Given the description of an element on the screen output the (x, y) to click on. 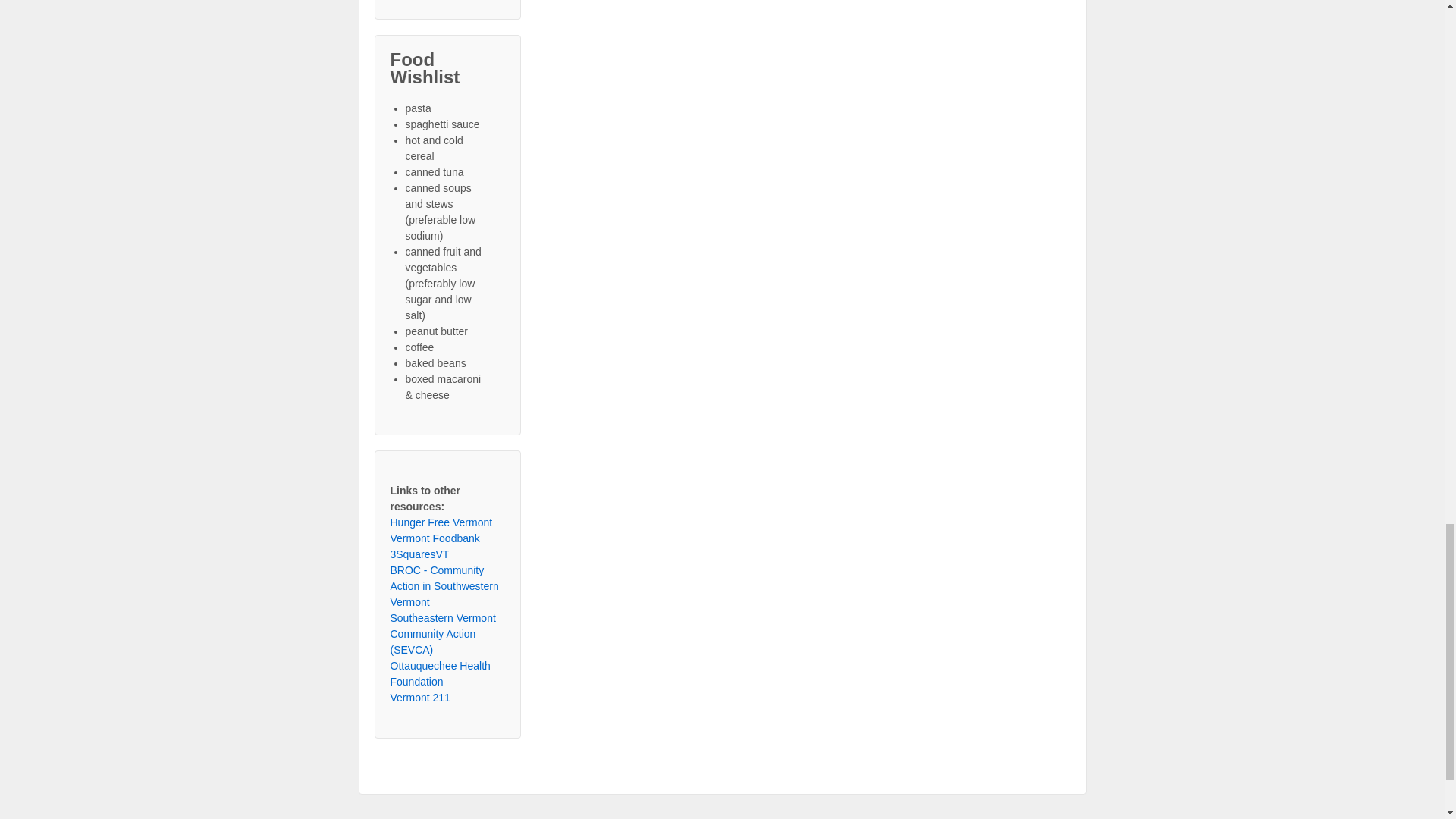
3SquaresVT (419, 553)
Vermont Foodbank (434, 538)
Vermont 211 (419, 697)
3SquaresVT (419, 553)
Vermont Foodbank (434, 538)
Hunger Free Vermont (441, 522)
BROC - Community Action in Southwestern Vermont (443, 586)
Facebook Members WordPress Plugin (446, 2)
Ottauquechee Health Foundation (439, 673)
Facebook Members WordPress Plugin (446, 2)
Hunger Free Vermont (441, 522)
Vermont 211 (419, 697)
